Given the description of an element on the screen output the (x, y) to click on. 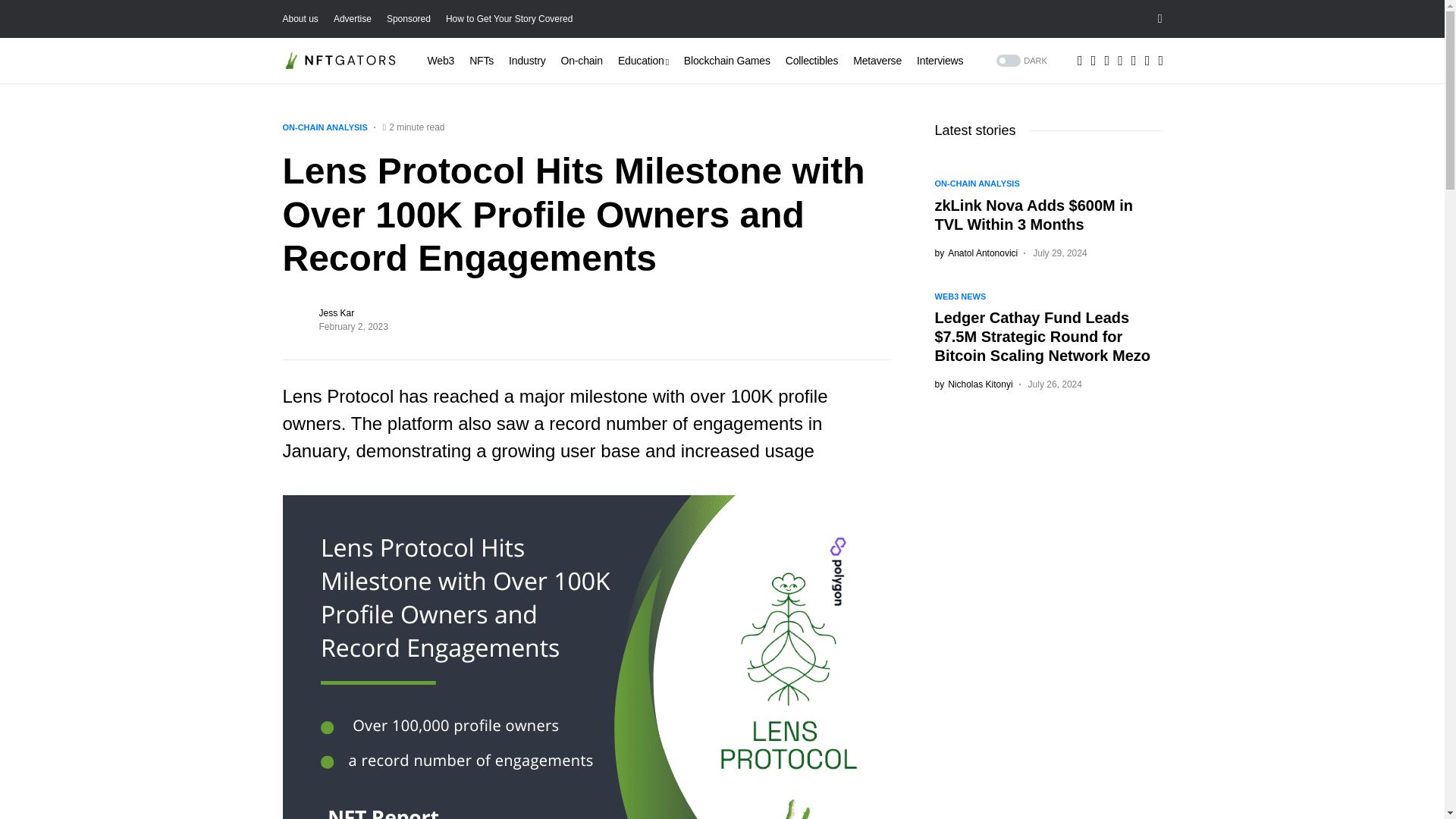
On-chain (581, 60)
Blockchain Games (727, 60)
Metaverse (877, 60)
About us (299, 18)
Sponsored (408, 18)
Interviews (939, 60)
Advertise (352, 18)
How to Get Your Story Covered (508, 18)
View all posts by Anatol Antonovici (975, 252)
Collectibles (812, 60)
View all posts by Nicholas Kitonyi (972, 384)
Education (642, 60)
